Given the description of an element on the screen output the (x, y) to click on. 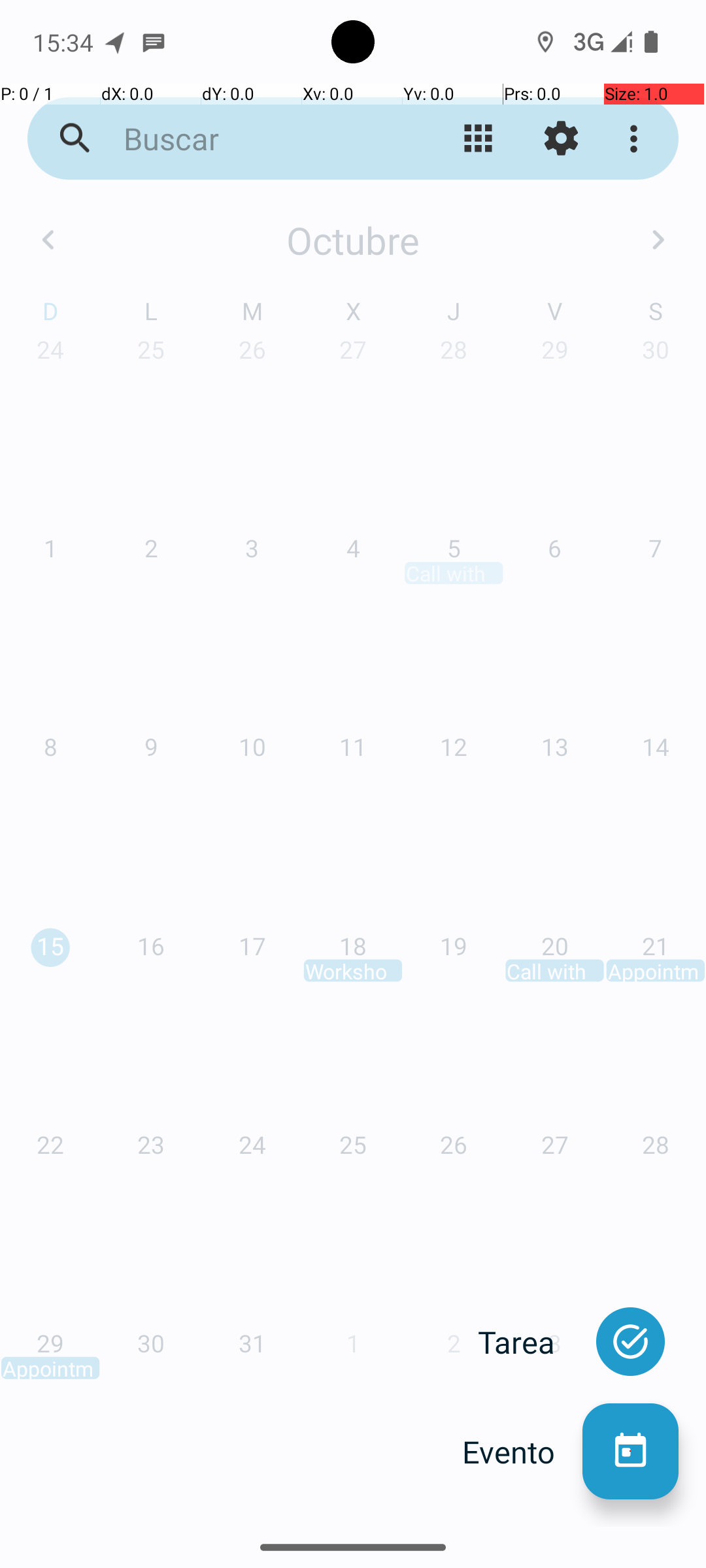
Tarea Element type: android.widget.TextView (529, 1341)
Evento Element type: android.widget.TextView (522, 1451)
Octubre Element type: android.widget.TextView (352, 239)
